Given the description of an element on the screen output the (x, y) to click on. 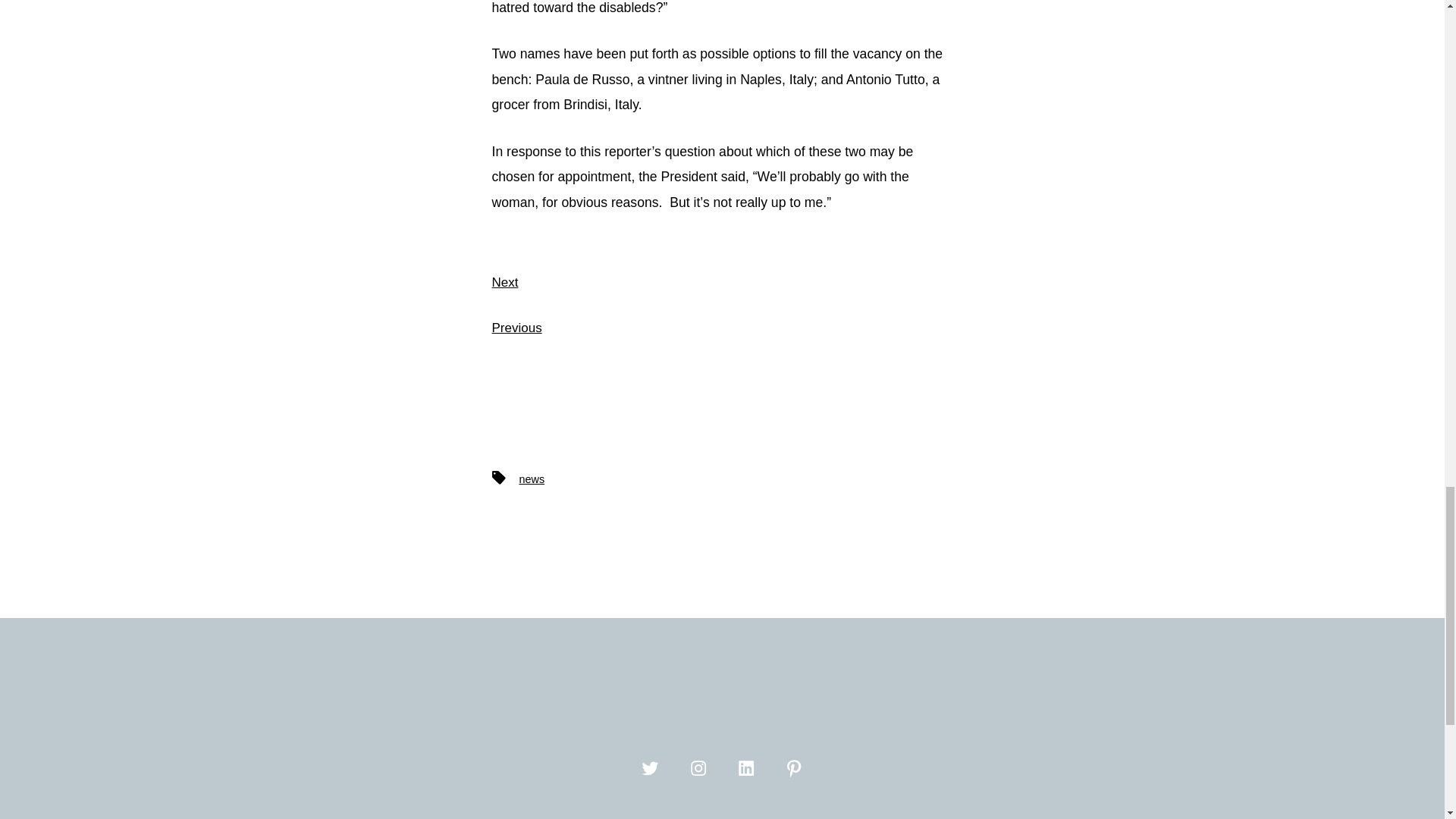
news (531, 479)
Open Pinterest in a new tab (793, 768)
Next (505, 281)
Open Twitter in a new tab (649, 768)
Previous (516, 327)
Open LinkedIn in a new tab (745, 768)
Open Instagram in a new tab (698, 768)
